Given the description of an element on the screen output the (x, y) to click on. 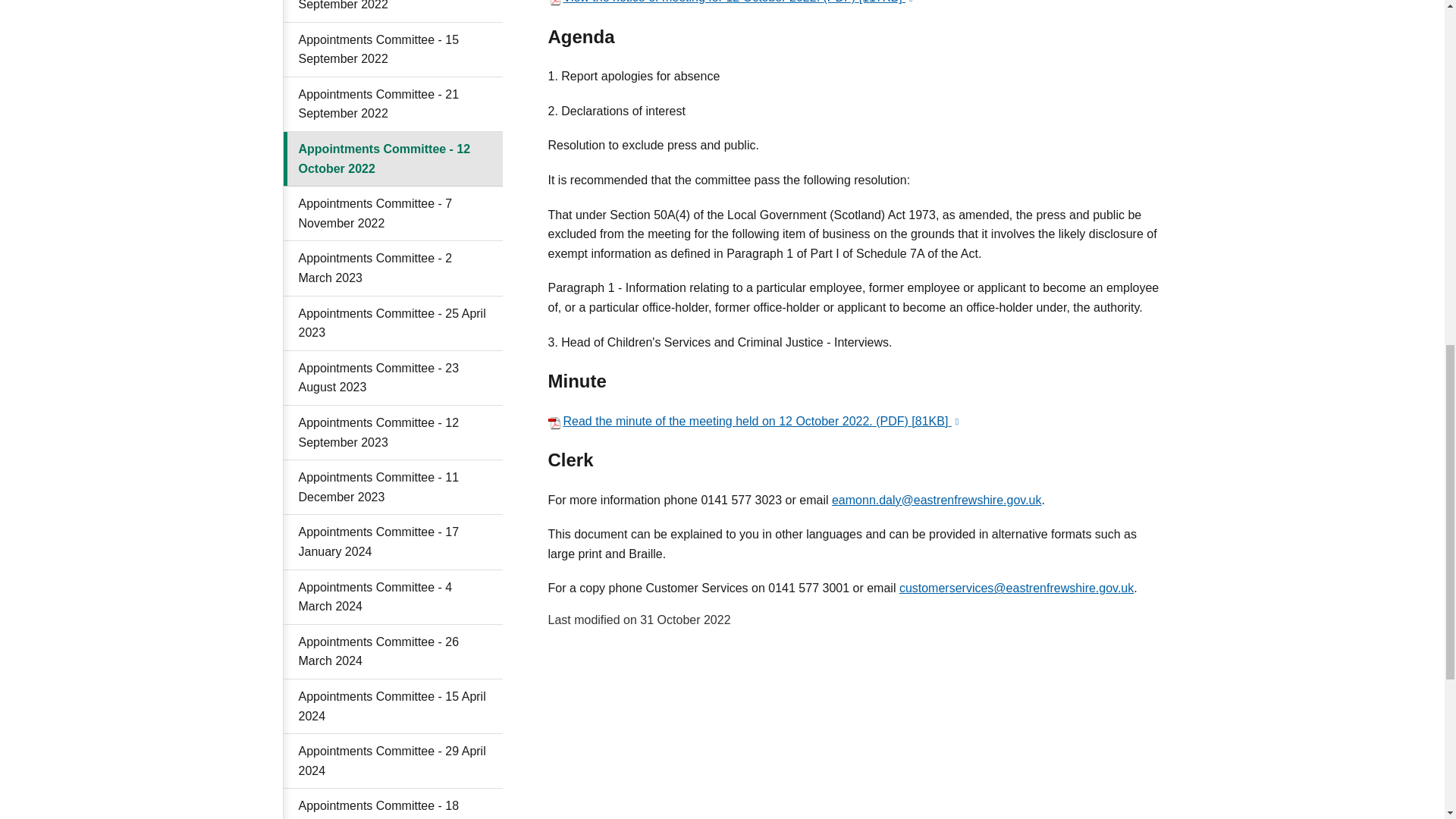
Appointments Committee - 15 September 2022 (392, 49)
Appointments Committee - 23 August 2023 (392, 378)
Appointments Committee - 11 December 2023 (392, 487)
Appointments Committee - 4 March 2024 (392, 597)
Appointments Committee - 7 November 2022 (392, 213)
Appointments Committee - 17 January 2024 (392, 542)
Appointments Committee - 12 September 2023 (392, 432)
Appointments Committee - 21 September 2022 (392, 103)
Appointments Committee - 2 March 2023 (392, 267)
Appointments Committee - 25 April 2023 (392, 323)
Appointments Committee - 5 September 2022 (392, 11)
